Given the description of an element on the screen output the (x, y) to click on. 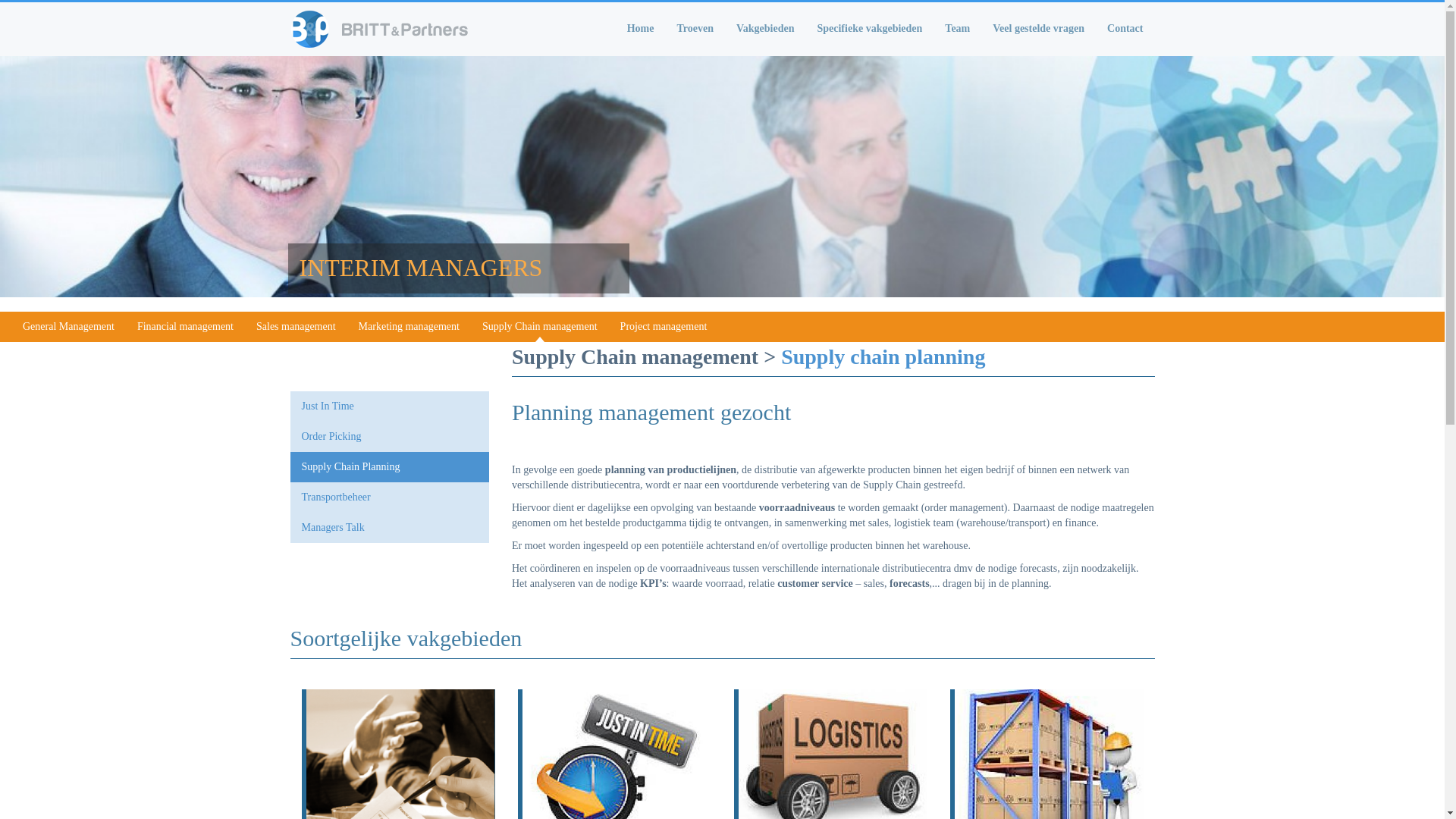
Team Element type: text (957, 28)
Sales management Element type: text (295, 325)
Project management Element type: text (663, 325)
Home Element type: hover (386, 29)
Just In Time Element type: text (389, 406)
Veel gestelde vragen Element type: text (1038, 28)
Managers Talk Element type: text (389, 527)
Overslaan en naar de inhoud gaan Element type: text (0, 0)
Supply Chain management Element type: text (539, 325)
Marketing management Element type: text (408, 325)
Transportbeheer Element type: text (389, 497)
Specifieke vakgebieden Element type: text (869, 28)
Troeven Element type: text (694, 28)
Vakgebieden Element type: text (765, 28)
Order Picking Element type: text (389, 436)
Contact Element type: text (1124, 28)
General Management Element type: text (68, 325)
Financial management Element type: text (184, 325)
Supply Chain Planning Element type: text (389, 466)
Home Element type: text (640, 28)
